Given the description of an element on the screen output the (x, y) to click on. 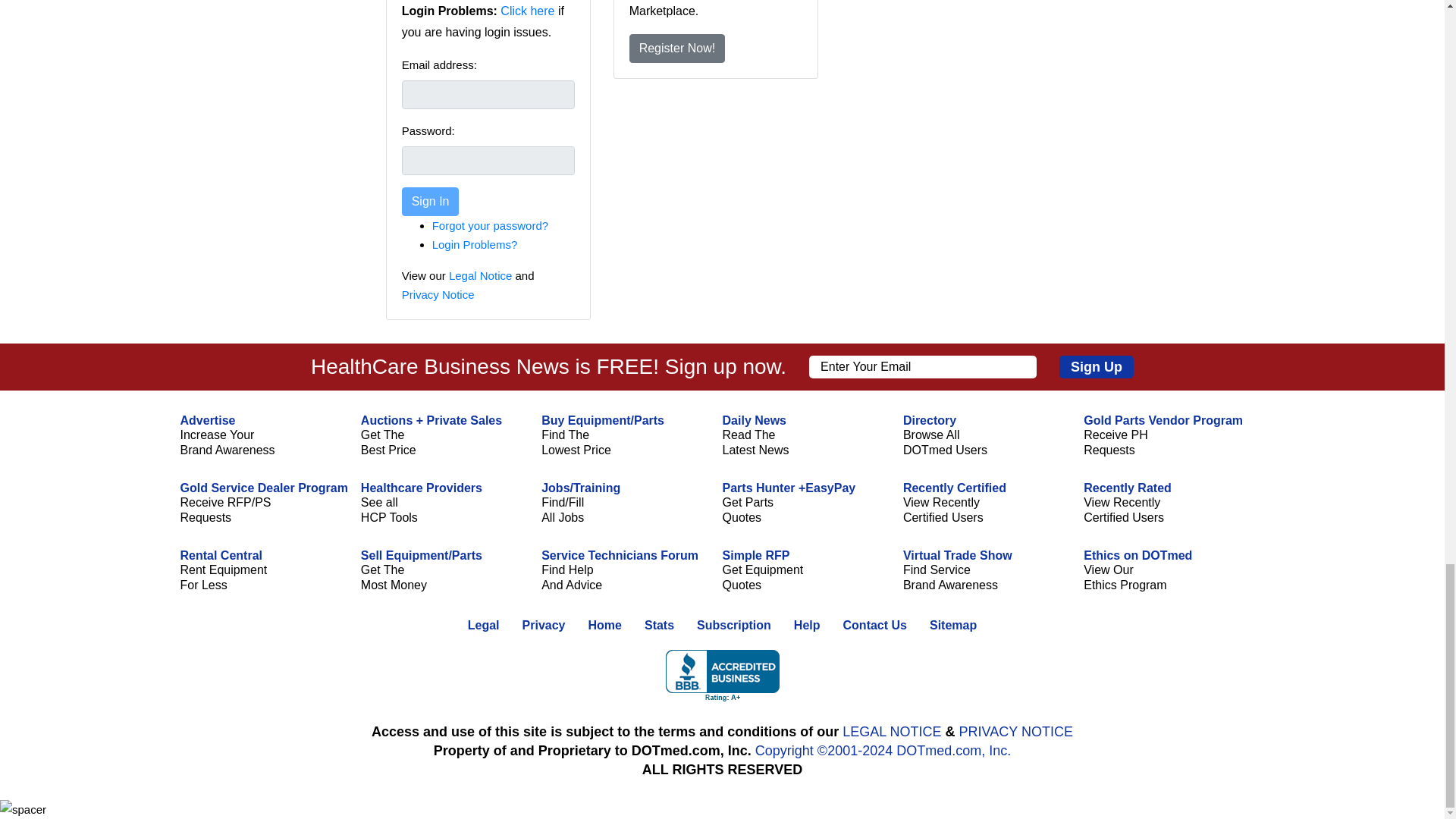
Register Now! (676, 48)
Login Problems? (475, 244)
Forget your password? (490, 225)
Sign In (430, 201)
